Given the description of an element on the screen output the (x, y) to click on. 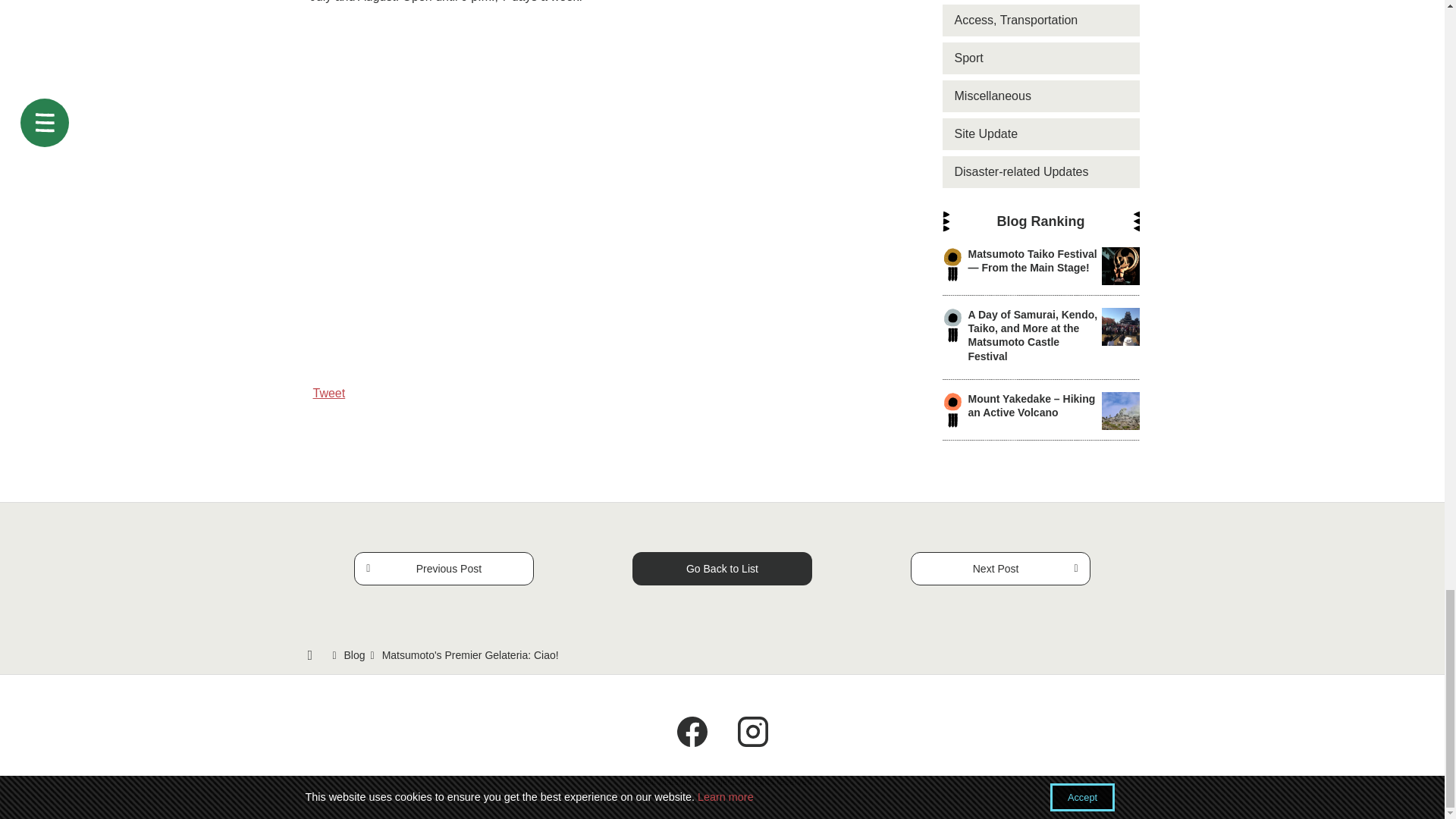
Tweet (329, 392)
